Given the description of an element on the screen output the (x, y) to click on. 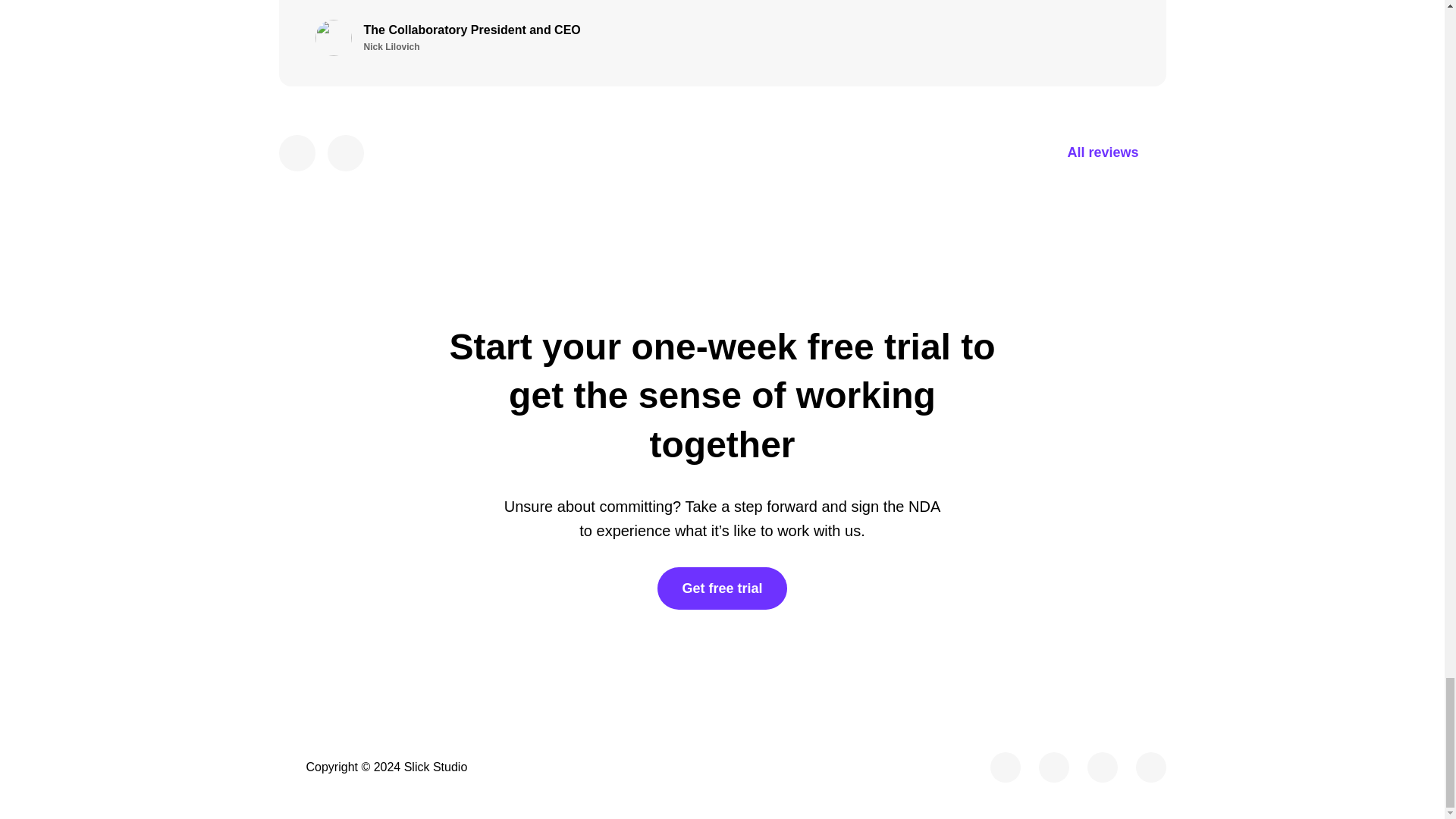
Get free trial (724, 28)
All reviews (722, 588)
